Given the description of an element on the screen output the (x, y) to click on. 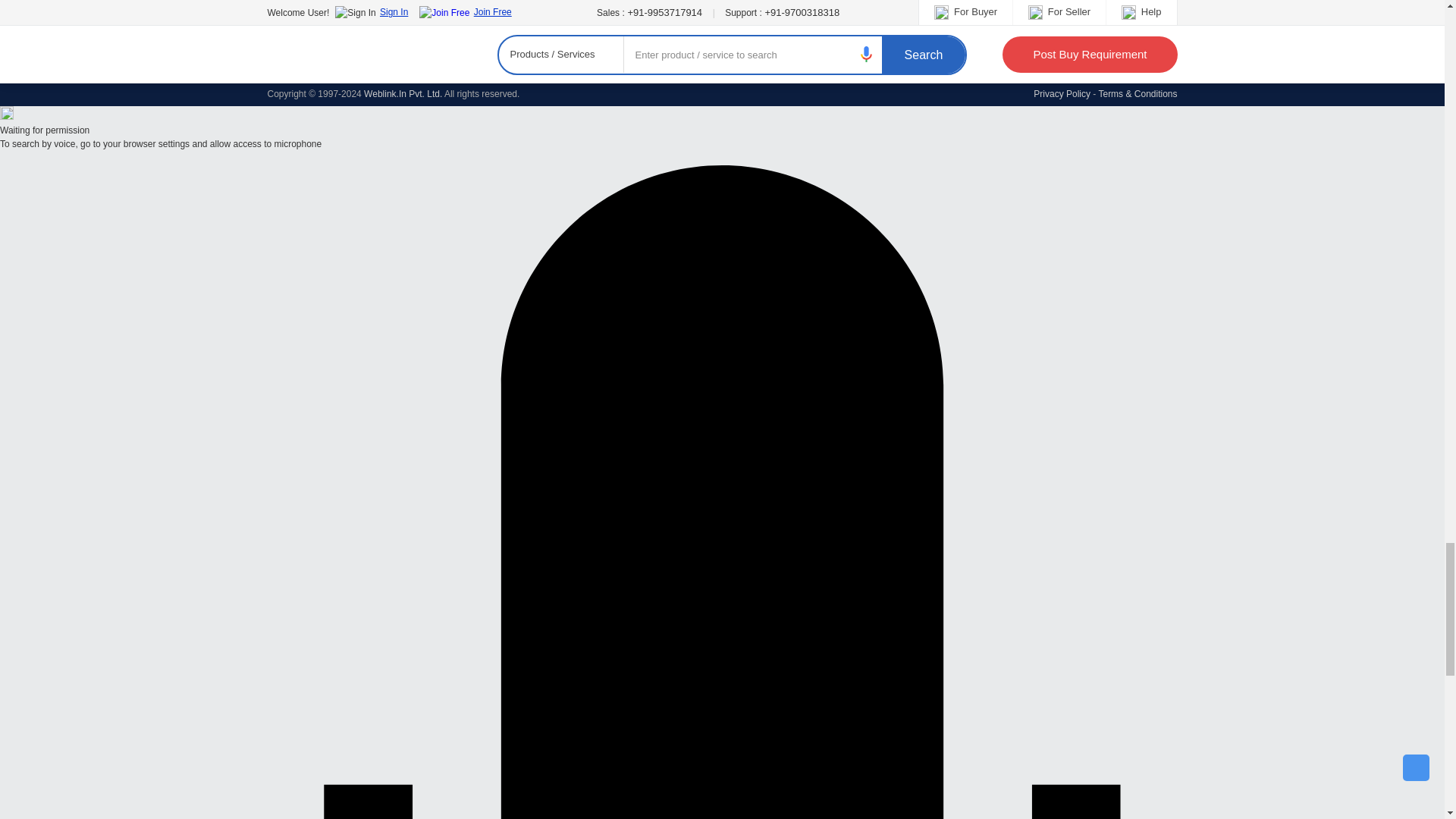
Follow us on Facebook (277, 73)
Follow us on Instagram (404, 73)
B2B Marketplace Guide (379, 73)
Connect Exportersindia on Linkedin (328, 73)
ExportersIndia on Pinterest (354, 73)
Follow us on Twitter (303, 73)
